Given the description of an element on the screen output the (x, y) to click on. 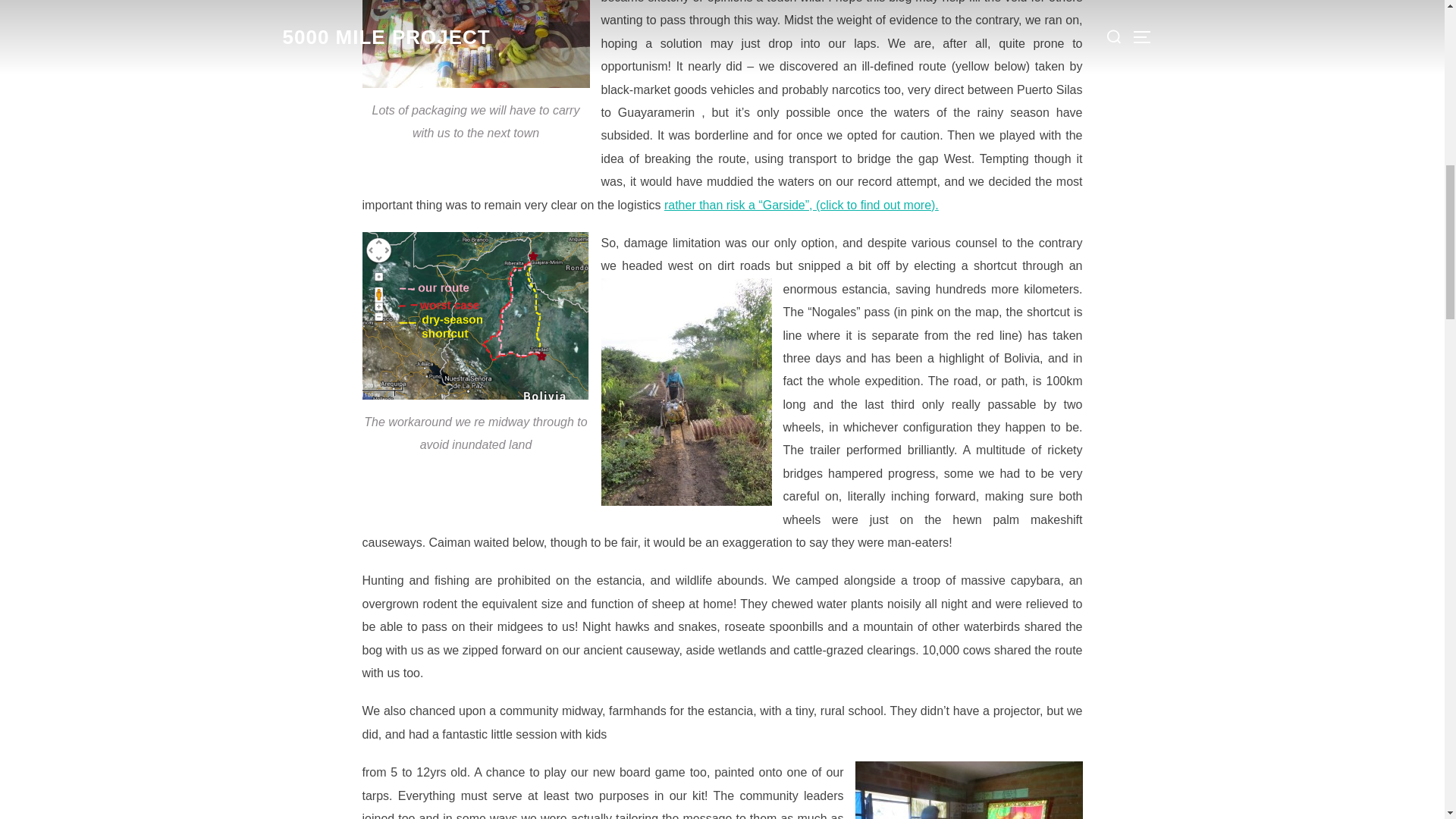
Robert Garside, Wikipedia (801, 205)
